Given the description of an element on the screen output the (x, y) to click on. 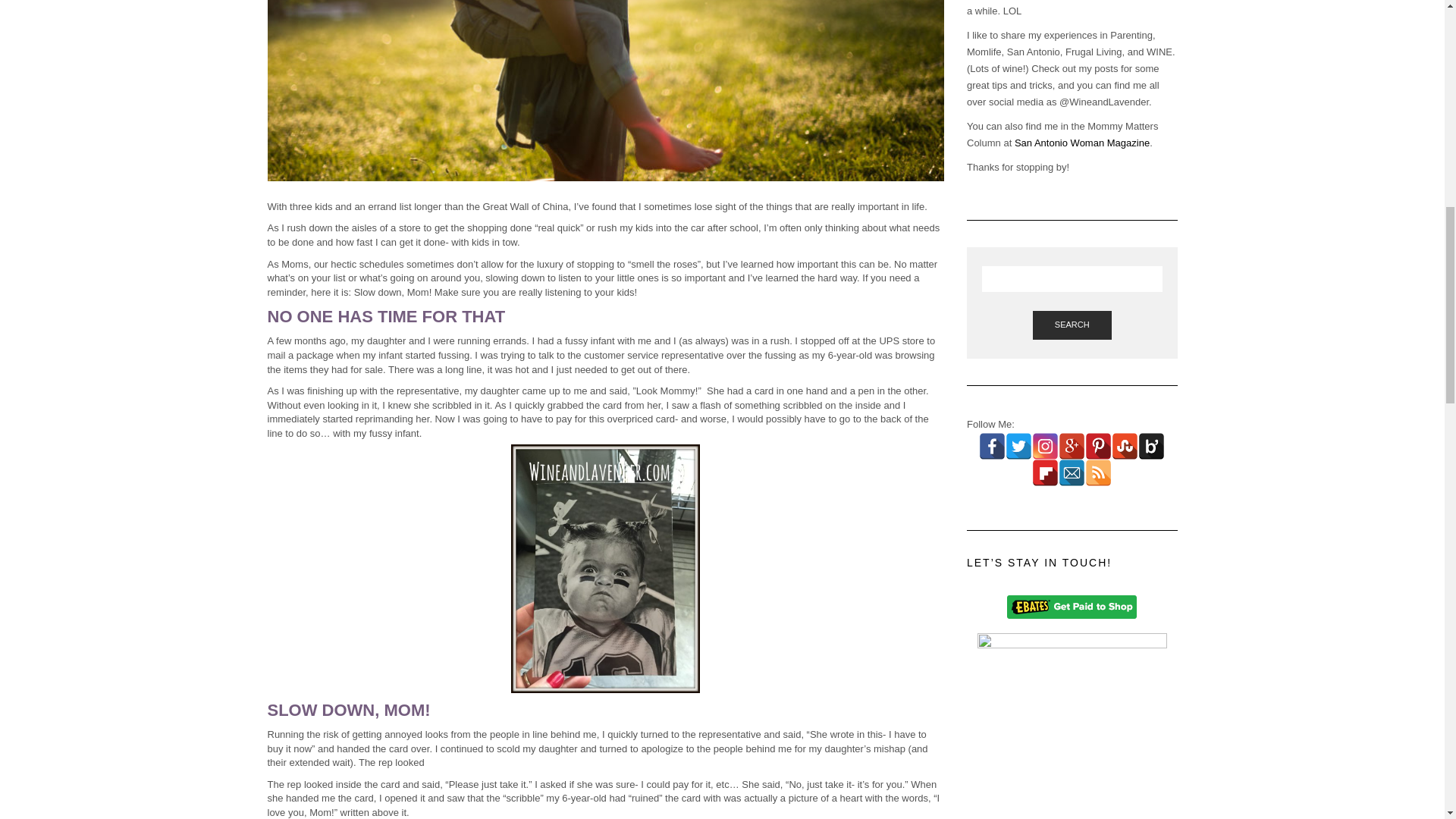
CoSchedule: The Editorial Calendar For WordPress (1071, 736)
Email (1071, 296)
Bloglovin (1151, 270)
Facebook (992, 270)
Flipboard (1045, 296)
StumbleUpon (1125, 270)
RSS Feed (1098, 296)
Twitter (1019, 270)
Pinterest (1098, 270)
Instagram (1045, 270)
